Given the description of an element on the screen output the (x, y) to click on. 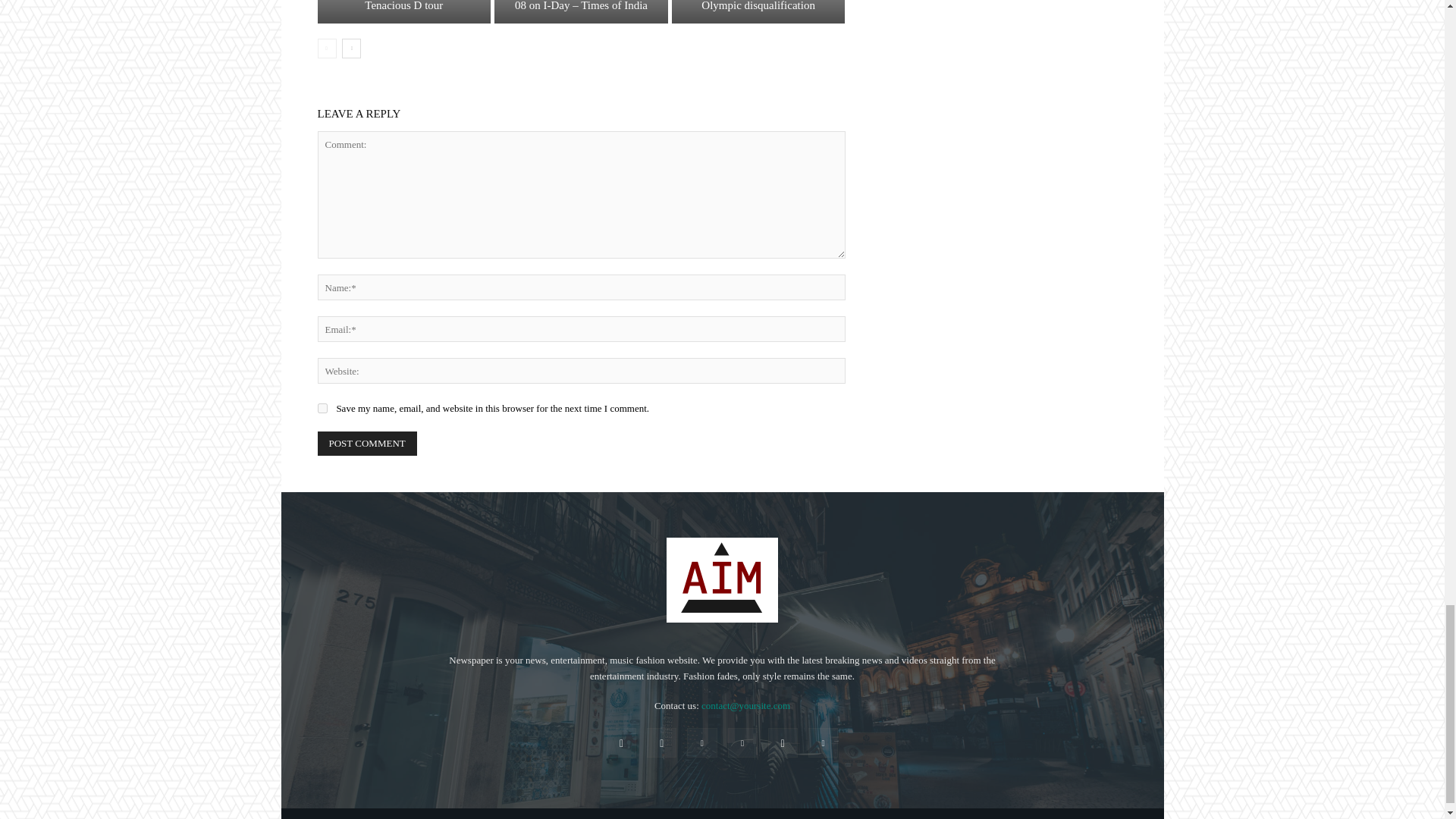
yes (321, 408)
Post Comment (366, 443)
